Given the description of an element on the screen output the (x, y) to click on. 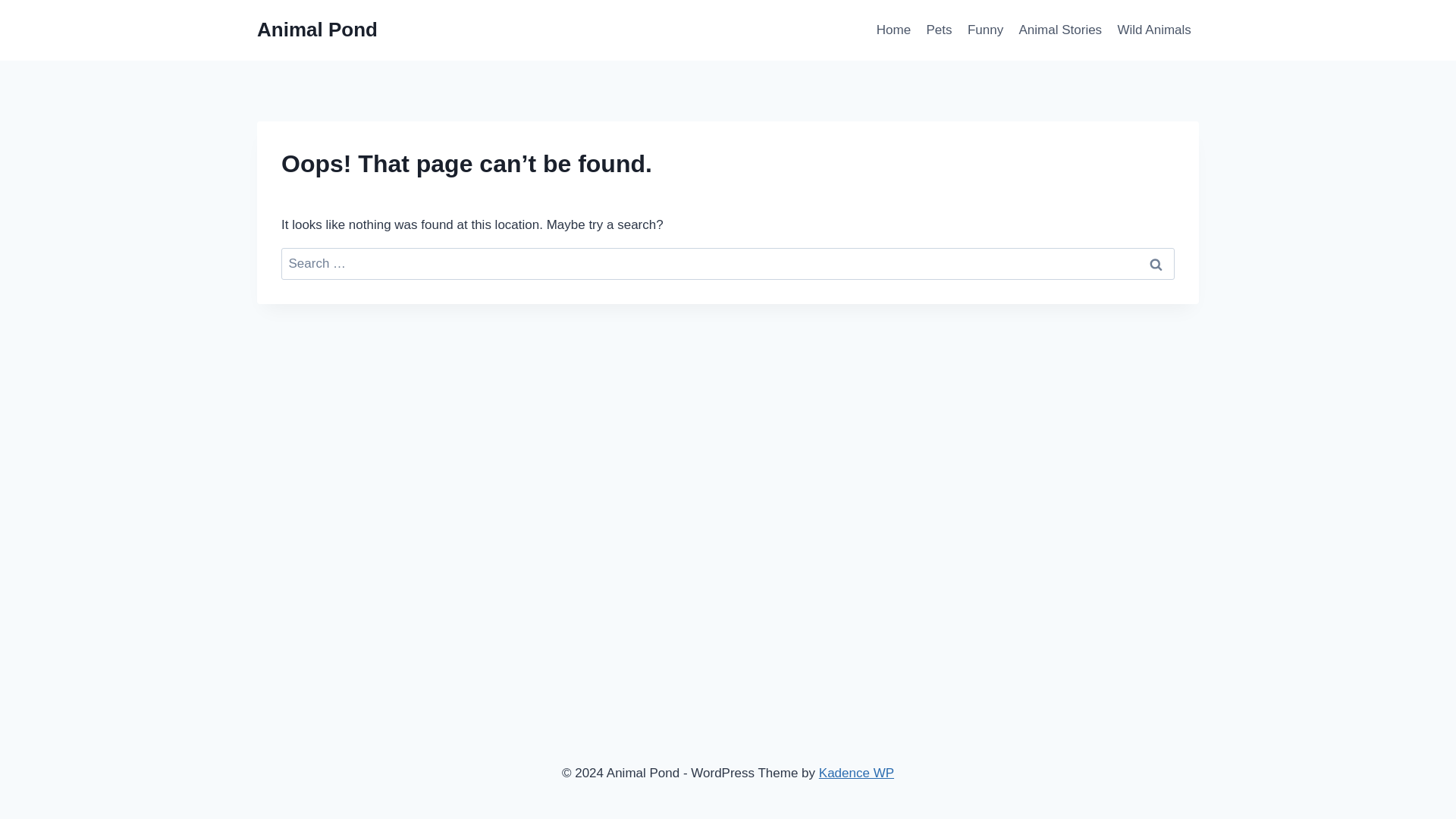
Kadence WP (855, 772)
Wild Animals (1153, 30)
Search (1155, 264)
Funny (985, 30)
Pets (938, 30)
Home (893, 30)
Search (1155, 264)
Animal Pond (317, 29)
Animal Stories (1059, 30)
Search (1155, 264)
